Given the description of an element on the screen output the (x, y) to click on. 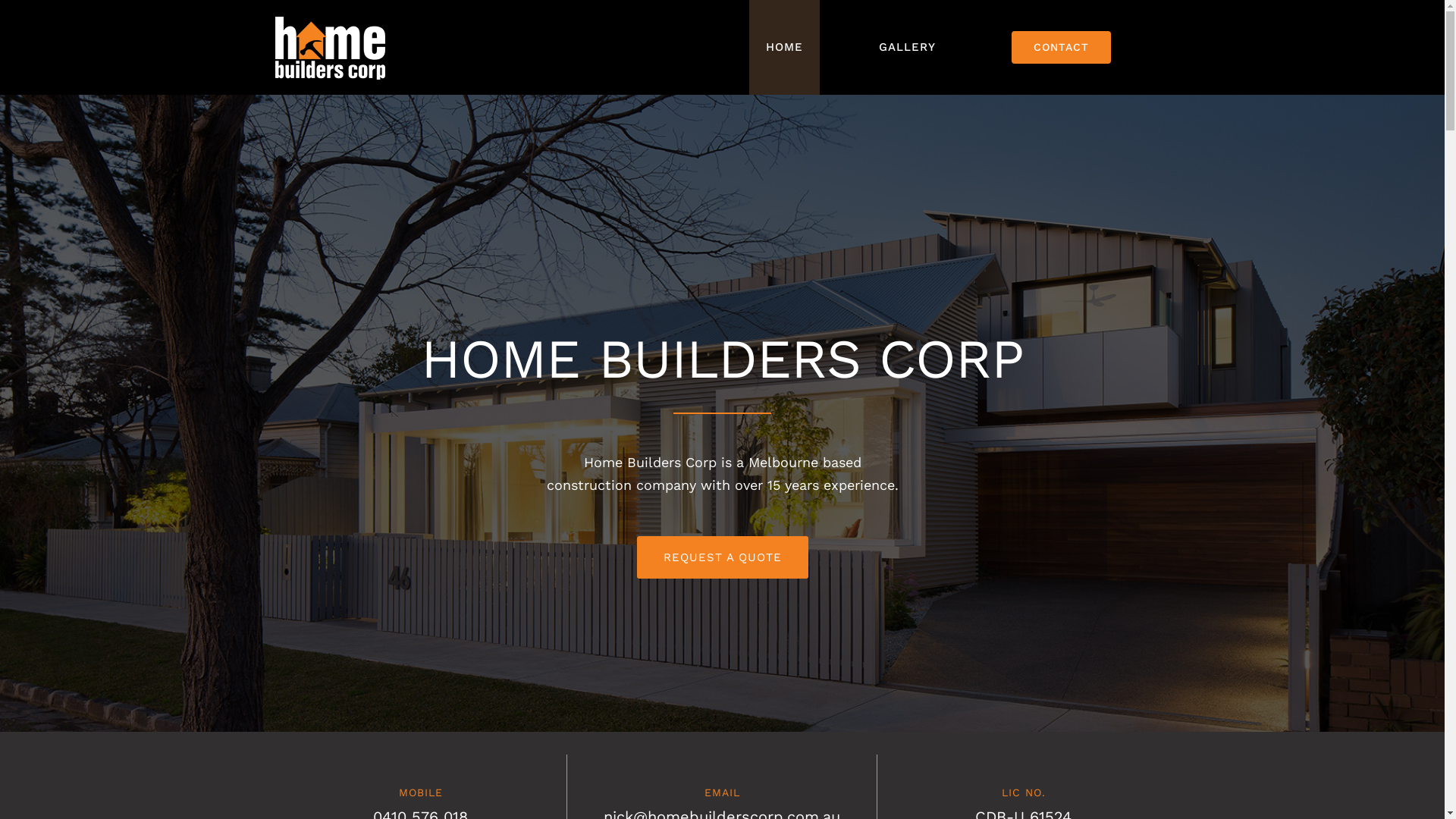
REQUEST A QUOTE Element type: text (722, 557)
CONTACT Element type: text (1060, 47)
GALLERY Element type: text (906, 47)
HOME Element type: text (784, 47)
